Given the description of an element on the screen output the (x, y) to click on. 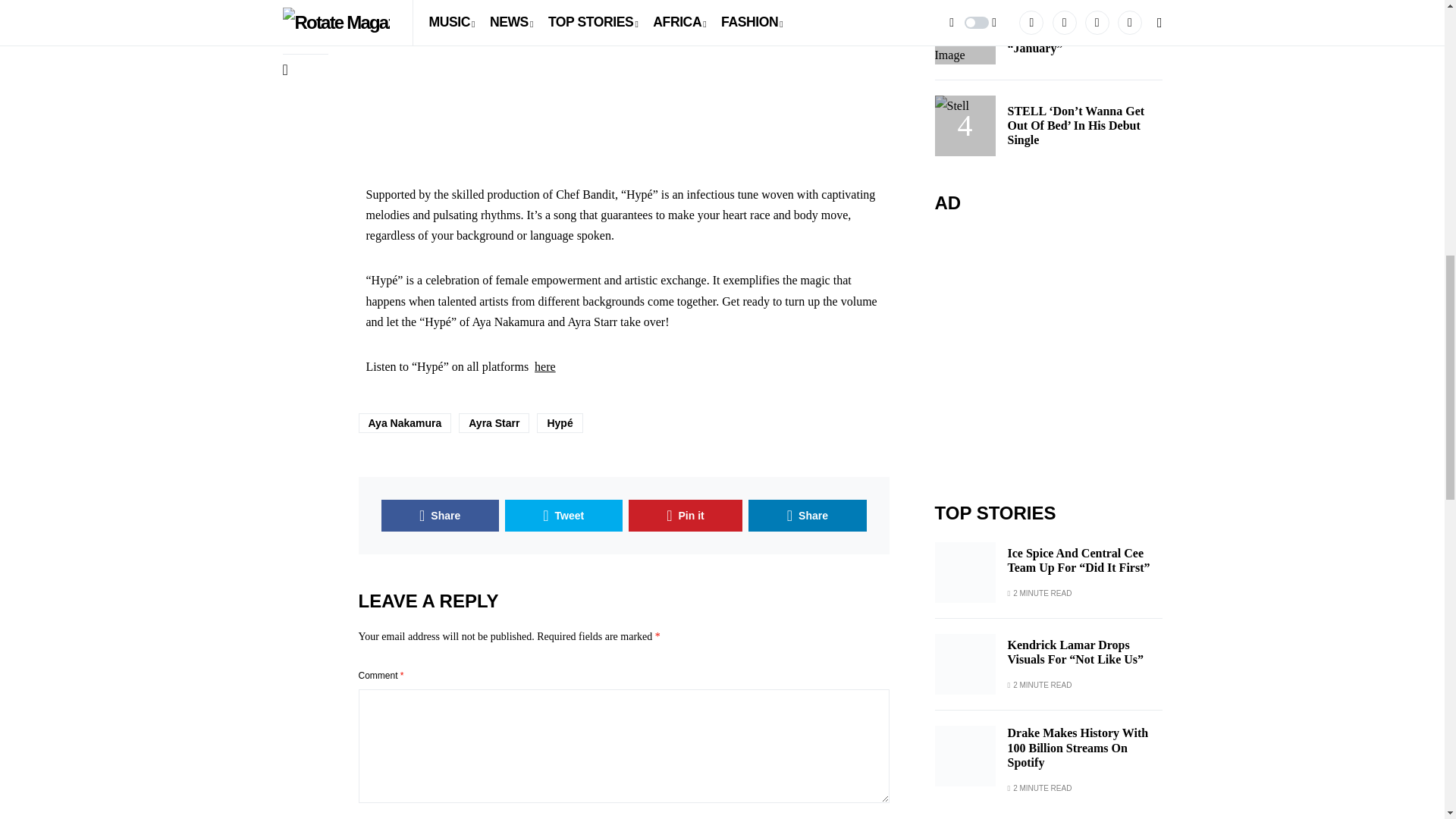
here (545, 366)
Stell 'Don'T Wanna Get Out Of Bed' In His Debut Single (964, 0)
Drake Makes History With 100 Billion Streams On Spotify (964, 600)
Aya Nakamura (404, 423)
